Given the description of an element on the screen output the (x, y) to click on. 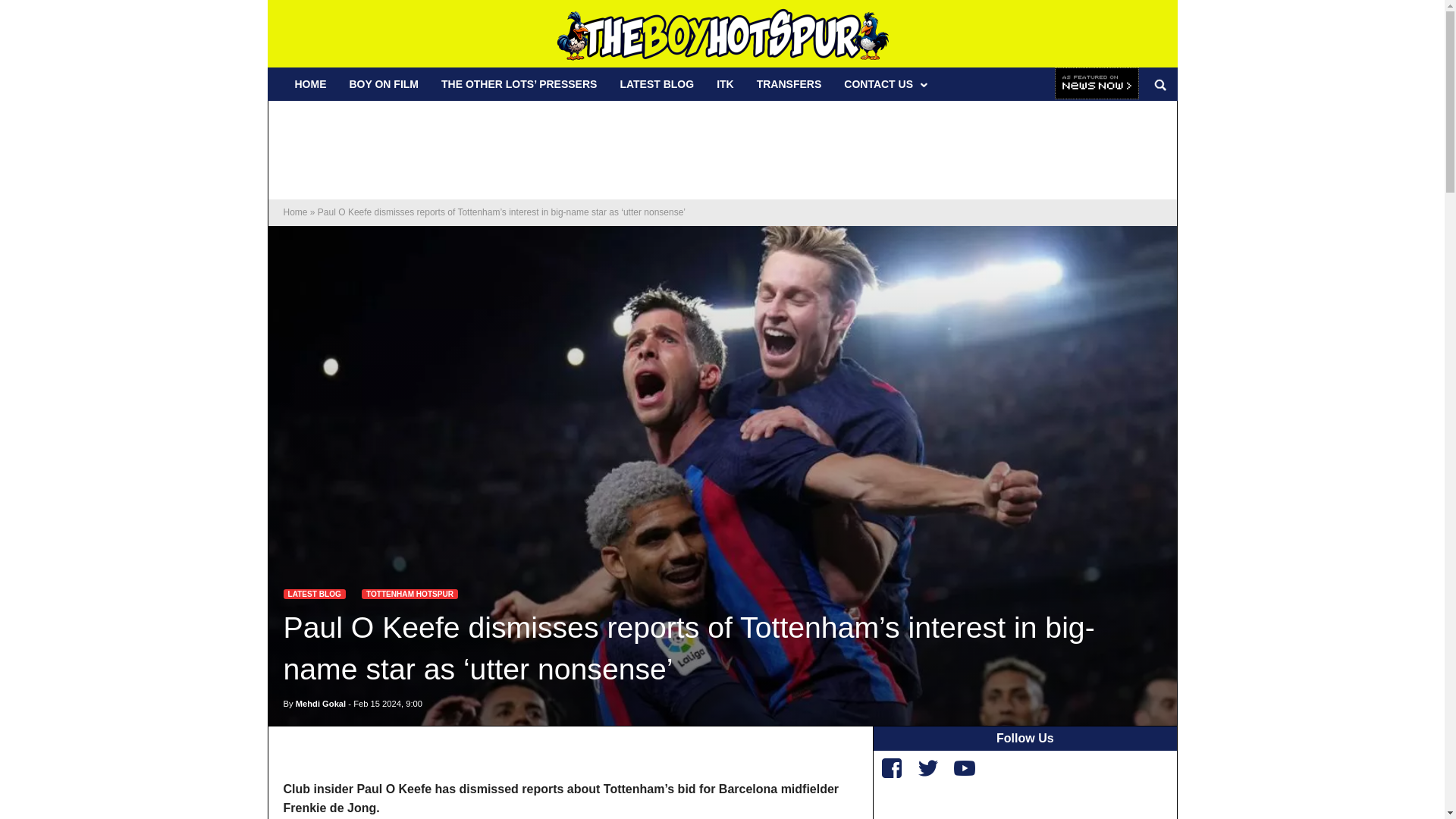
Feb 15 2024, 9:00 (387, 703)
CONTACT US (884, 83)
ITK (724, 83)
Home (295, 212)
Latest Tottenham Hotspur News (409, 593)
TOTTENHAM HOTSPUR (409, 593)
TRANSFERS (788, 83)
HOME (310, 83)
BOY ON FILM (383, 83)
Mehdi Gokal (320, 703)
